Given the description of an element on the screen output the (x, y) to click on. 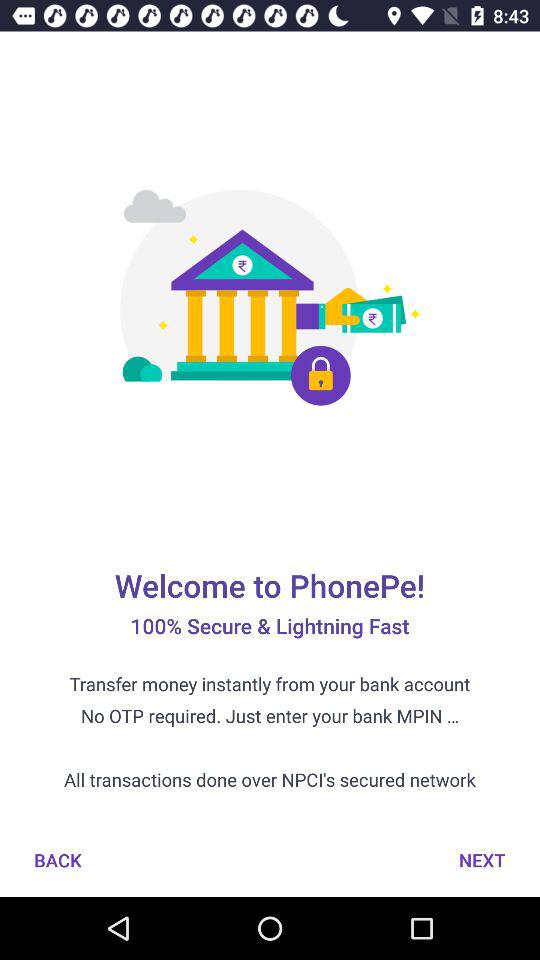
click the next item (482, 859)
